Given the description of an element on the screen output the (x, y) to click on. 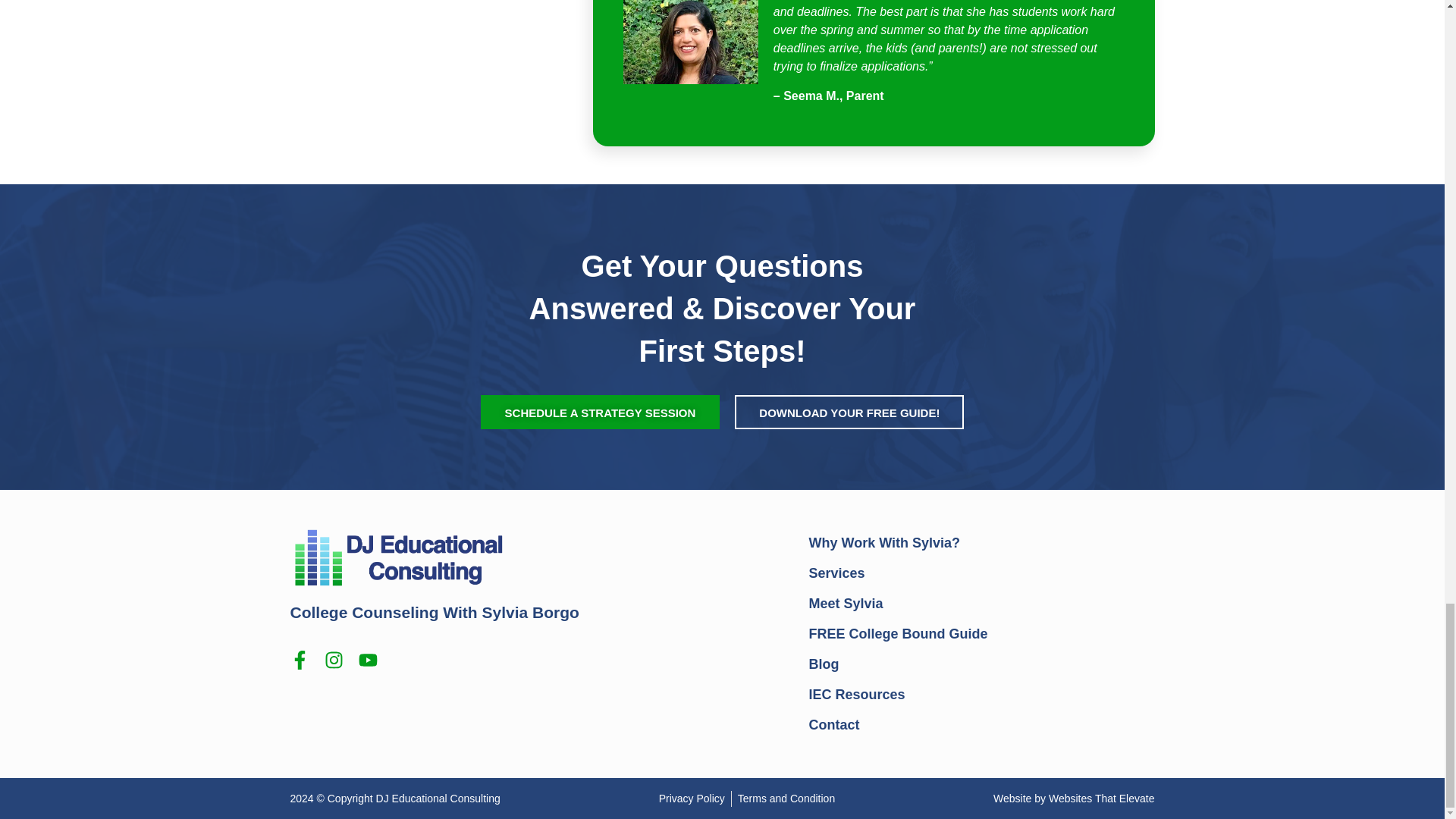
IEC Resources (981, 694)
Why Work With Sylvia? (981, 542)
SCHEDULE A STRATEGY SESSION (600, 411)
Blog (981, 664)
Meet Sylvia (981, 603)
Services (981, 572)
FREE College Bound Guide (981, 634)
DOWNLOAD YOUR FREE GUIDE! (849, 411)
